Given the description of an element on the screen output the (x, y) to click on. 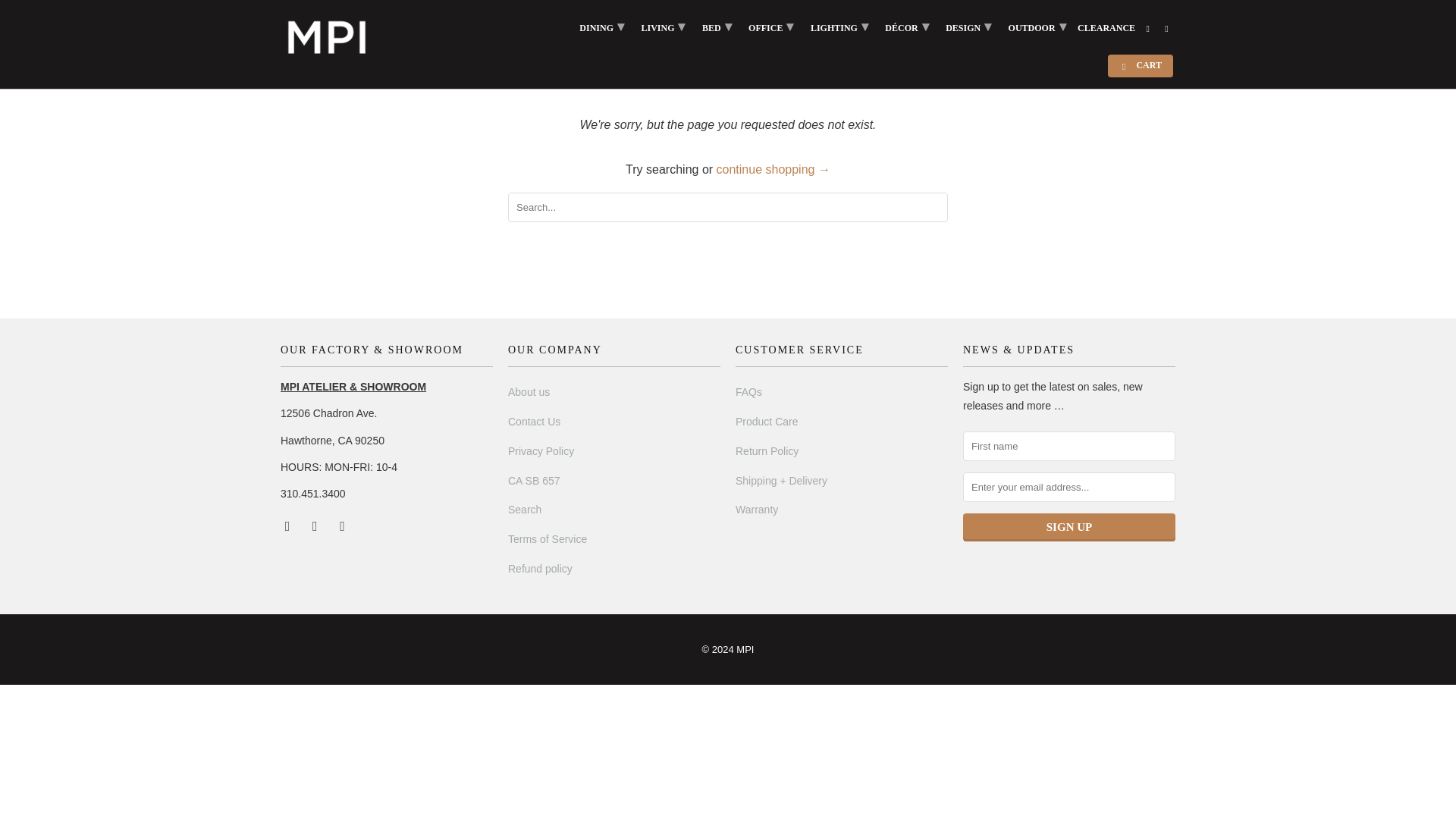
marcopolo-imports on Facebook (289, 525)
Sign Up (1068, 527)
marcopolo-imports (328, 38)
marcopolo-imports on Instagram (315, 525)
Email marcopolo-imports (343, 525)
